Given the description of an element on the screen output the (x, y) to click on. 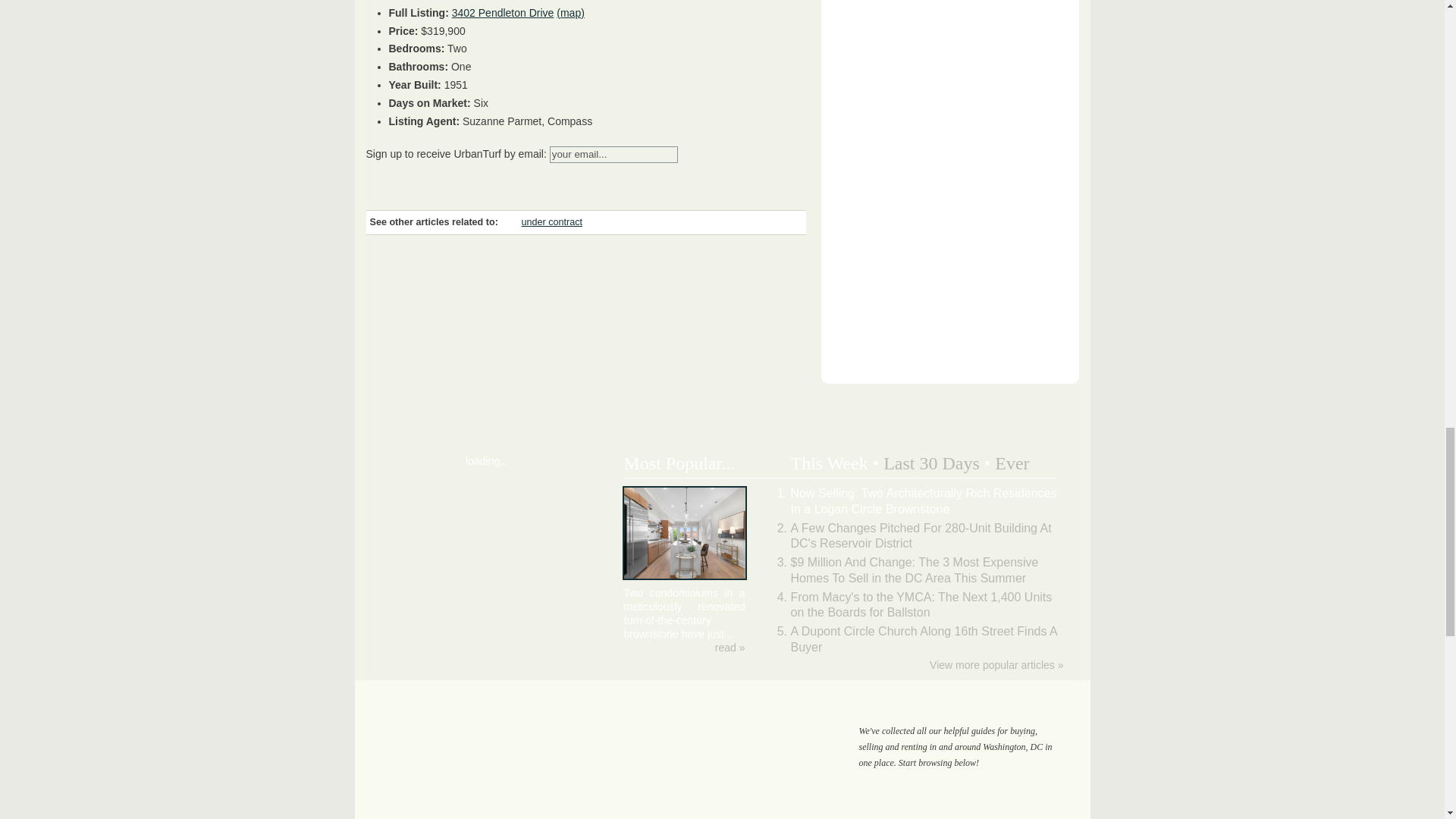
3402 Pendleton Drive (502, 12)
under contract (552, 222)
under contract (552, 222)
your email... (614, 154)
This Week (828, 463)
Ever (1011, 463)
Read the article (729, 647)
3402 Pendleton Drive (502, 12)
Last 30 Days (931, 463)
